Given the description of an element on the screen output the (x, y) to click on. 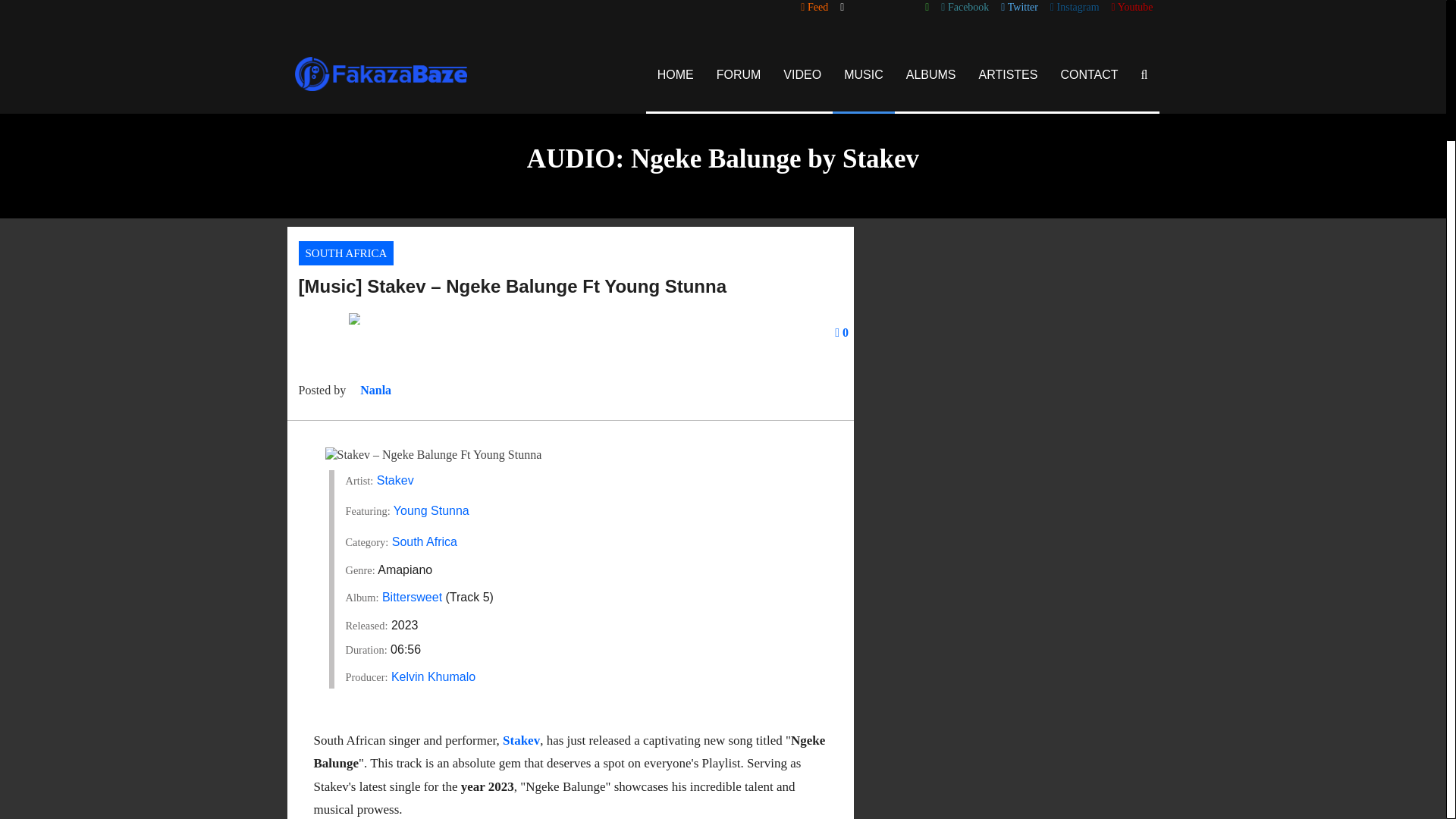
Young Stunna (430, 510)
Youtube (1132, 7)
Facebook (964, 7)
Feed (814, 7)
CONTACT (1088, 74)
SOUTH AFRICA (346, 252)
ARTISTES (1008, 74)
Stakev (395, 480)
Instagram (1074, 7)
ALBUMS (931, 74)
